Given the description of an element on the screen output the (x, y) to click on. 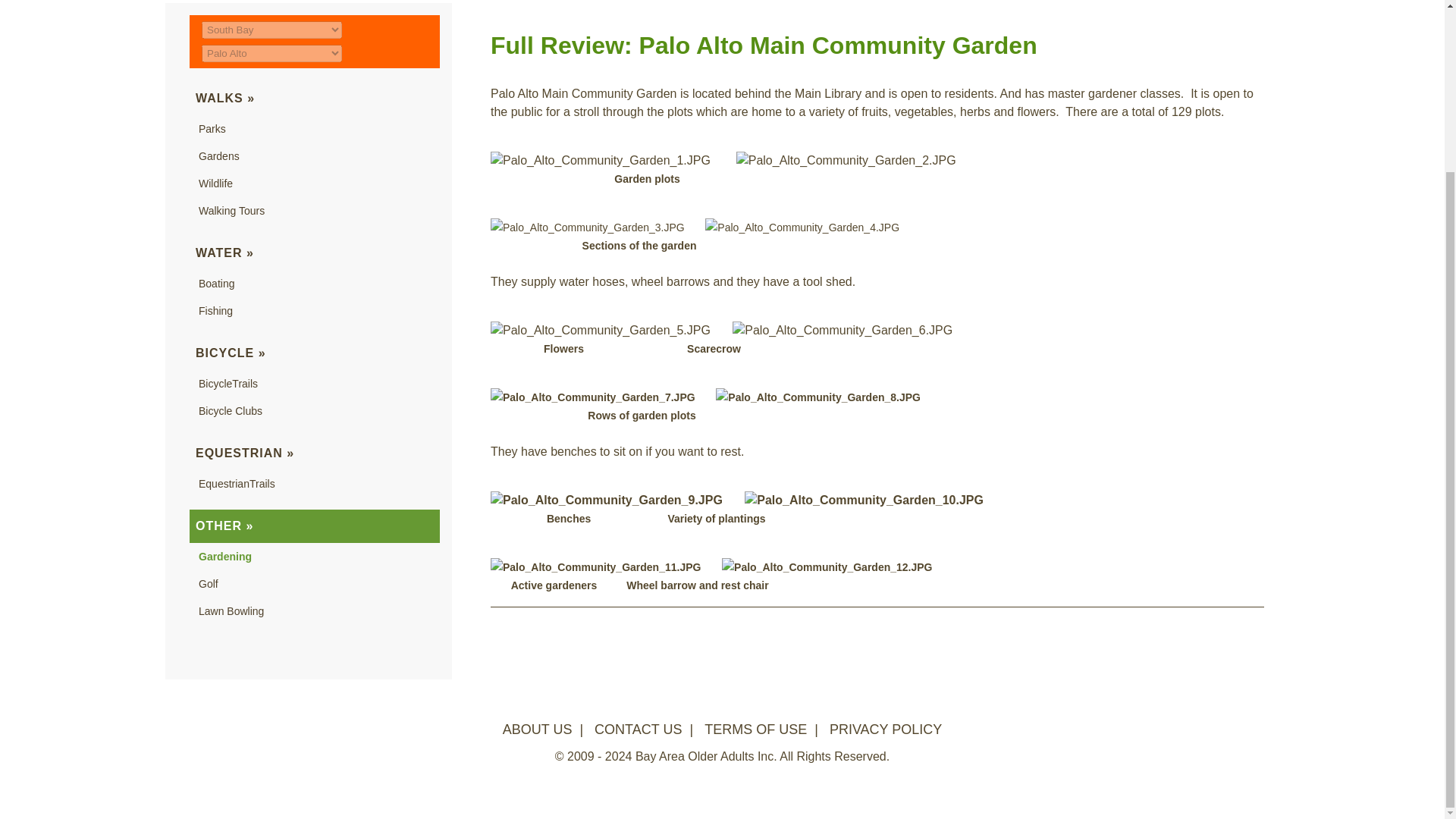
Walking Tours (231, 210)
Parks (211, 128)
Wildlife (215, 183)
About Us (537, 729)
Boating (216, 283)
EquestrianTrails (236, 483)
TERMS OF USE (755, 729)
ABOUT US (537, 729)
Bicycle Clubs (230, 410)
PRIVACY POLICY (885, 729)
